Given the description of an element on the screen output the (x, y) to click on. 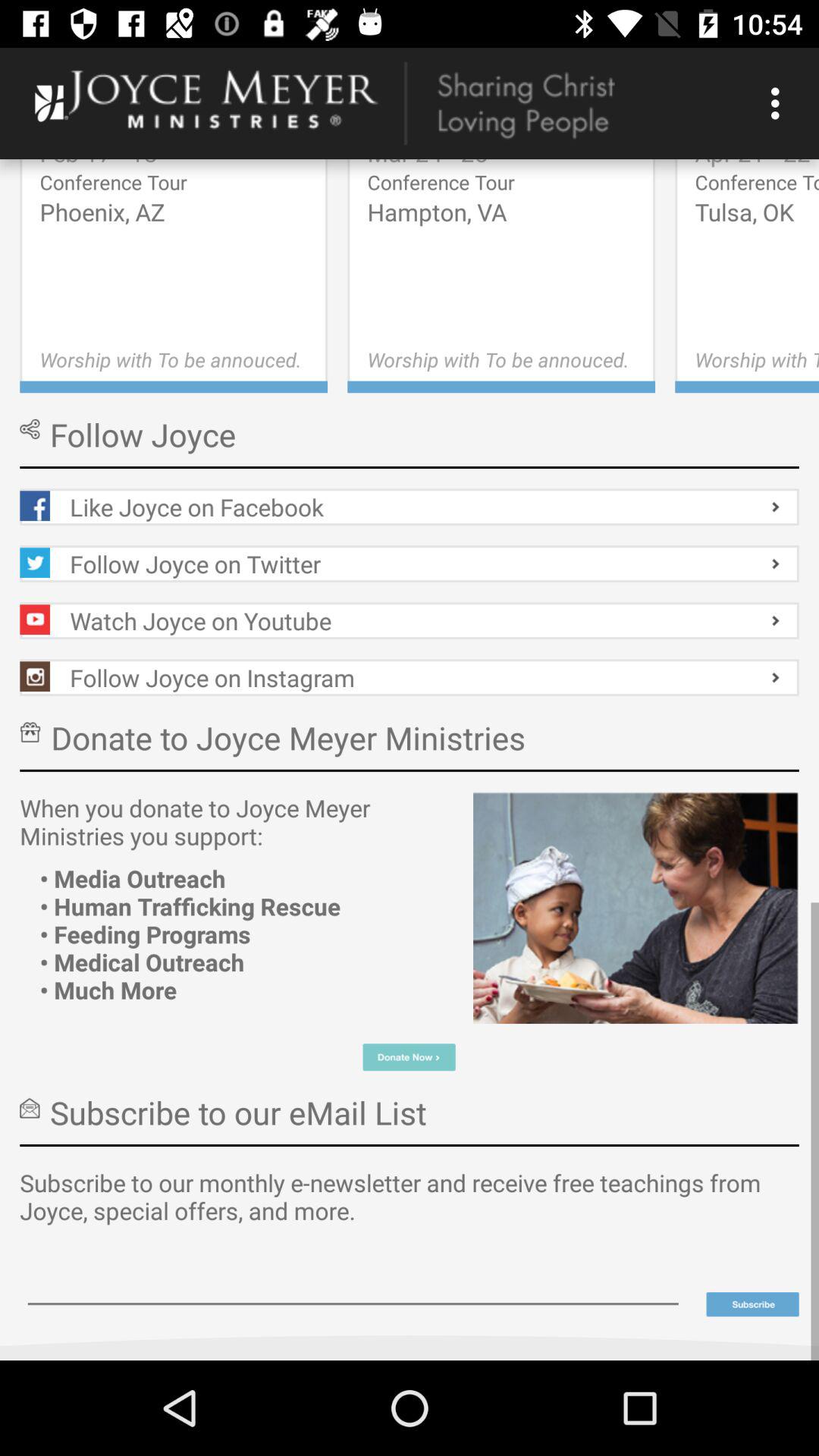
email subscribe (352, 1283)
